Given the description of an element on the screen output the (x, y) to click on. 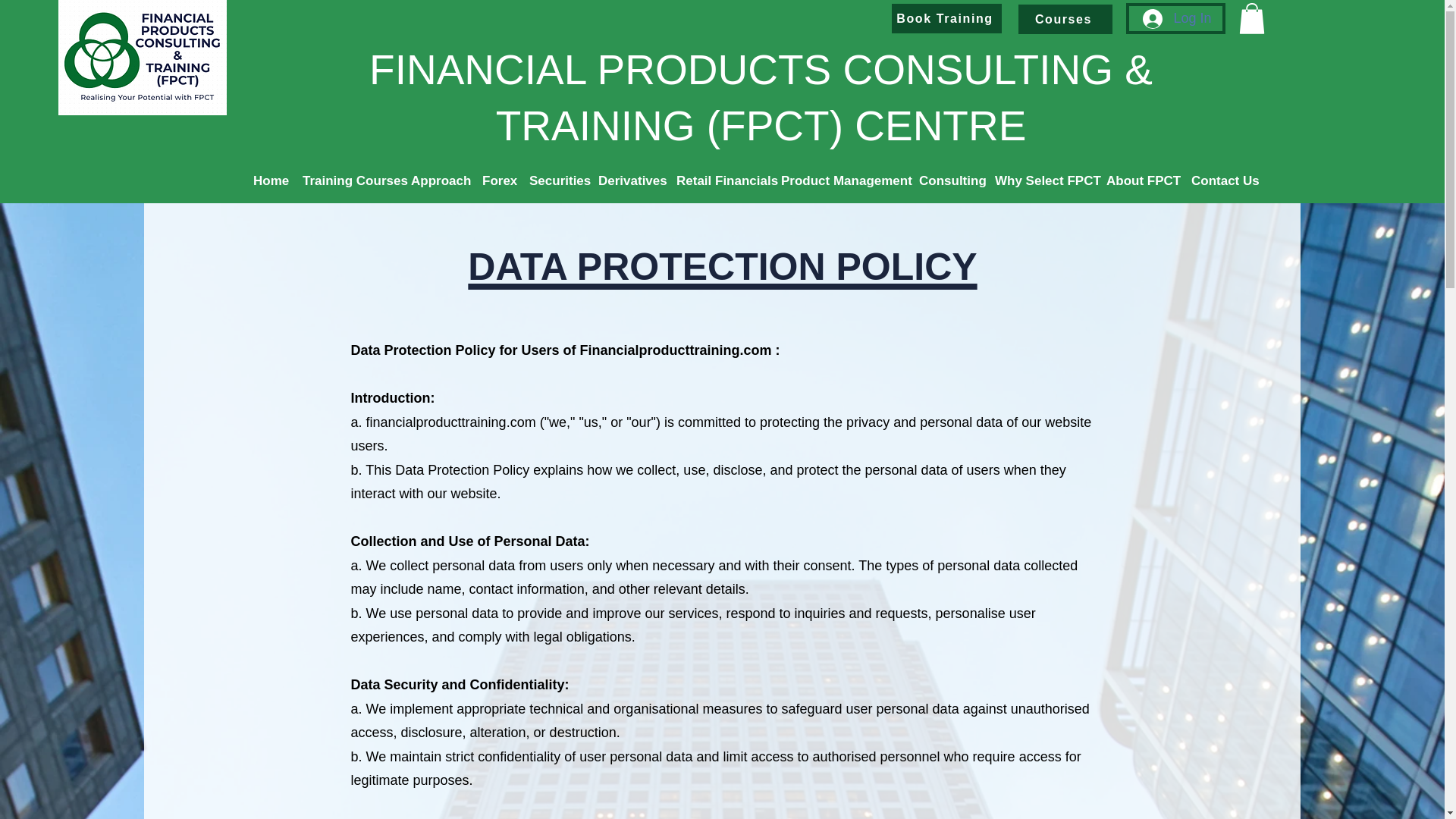
Approach (438, 180)
Home (270, 180)
Book Training (946, 18)
Log In (1176, 19)
Securities (556, 180)
Product Management (842, 180)
Courses (1064, 19)
Derivatives (629, 180)
Training Courses (349, 180)
Forex (497, 180)
Retail Financials (720, 180)
